Given the description of an element on the screen output the (x, y) to click on. 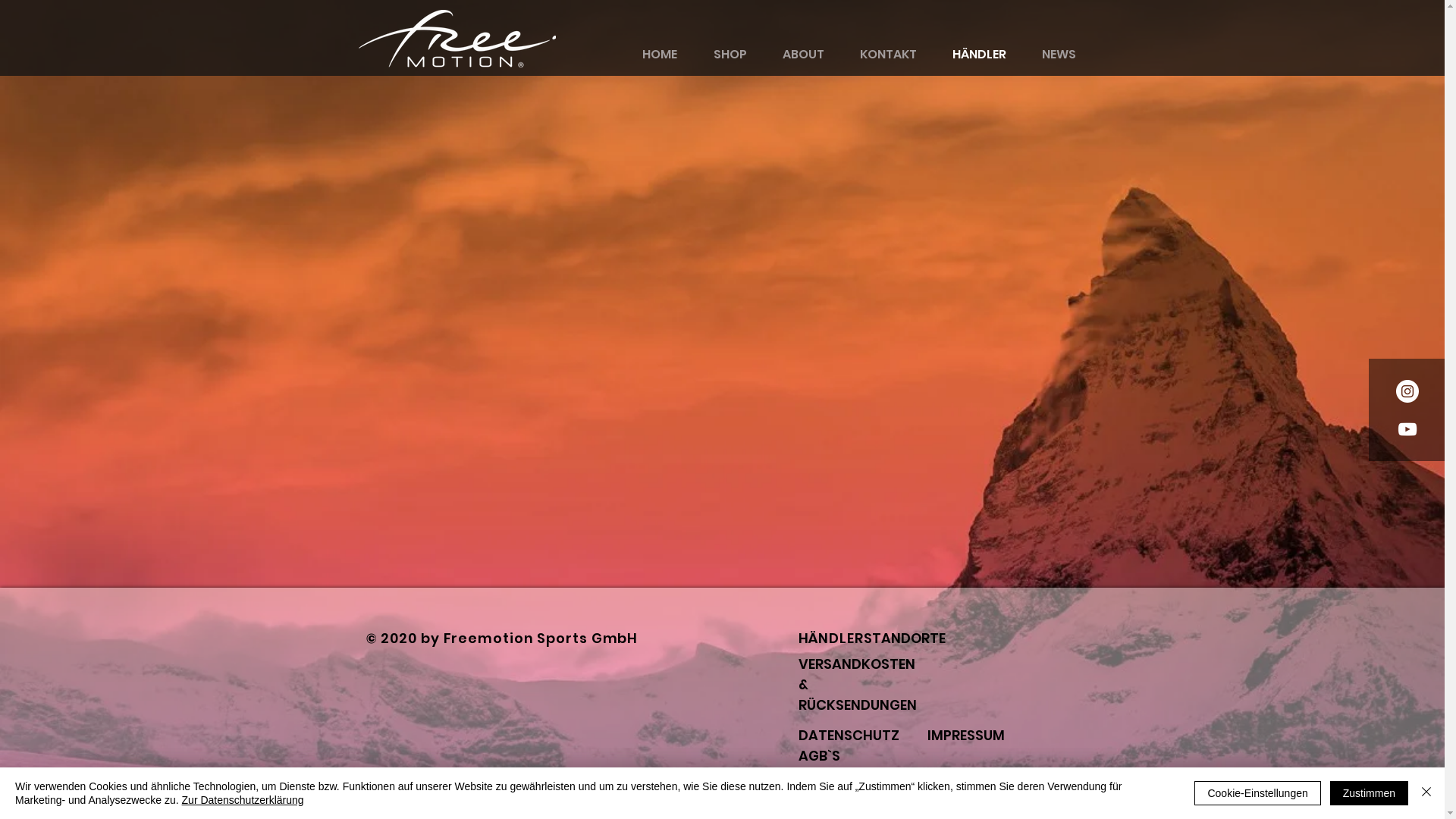
KONTAKT Element type: text (887, 53)
IMPRESSUM Element type: text (965, 734)
Cookie-Einstellungen Element type: text (1257, 793)
ABOUT Element type: text (802, 53)
HOME Element type: text (658, 53)
SHOP Element type: text (729, 53)
Zustimmen Element type: text (1369, 793)
Google Maps Element type: hover (721, 329)
NEWS Element type: text (1058, 53)
AGB`S Element type: text (818, 755)
DATENSCHUTZ Element type: text (847, 734)
